Given the description of an element on the screen output the (x, y) to click on. 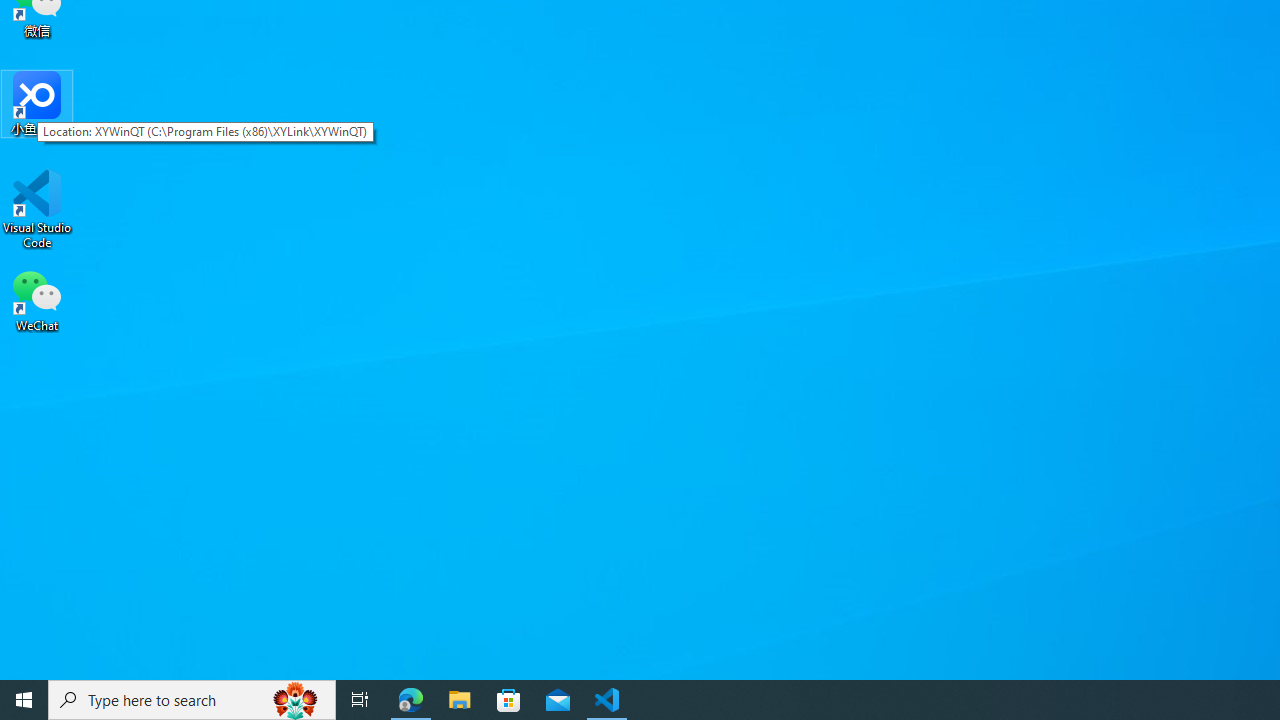
Microsoft Store (509, 699)
WeChat (37, 299)
Visual Studio Code (37, 209)
Search highlights icon opens search home window (295, 699)
Start (24, 699)
Microsoft Edge - 1 running window (411, 699)
File Explorer (460, 699)
Type here to search (191, 699)
Task View (359, 699)
Visual Studio Code - 1 running window (607, 699)
